Given the description of an element on the screen output the (x, y) to click on. 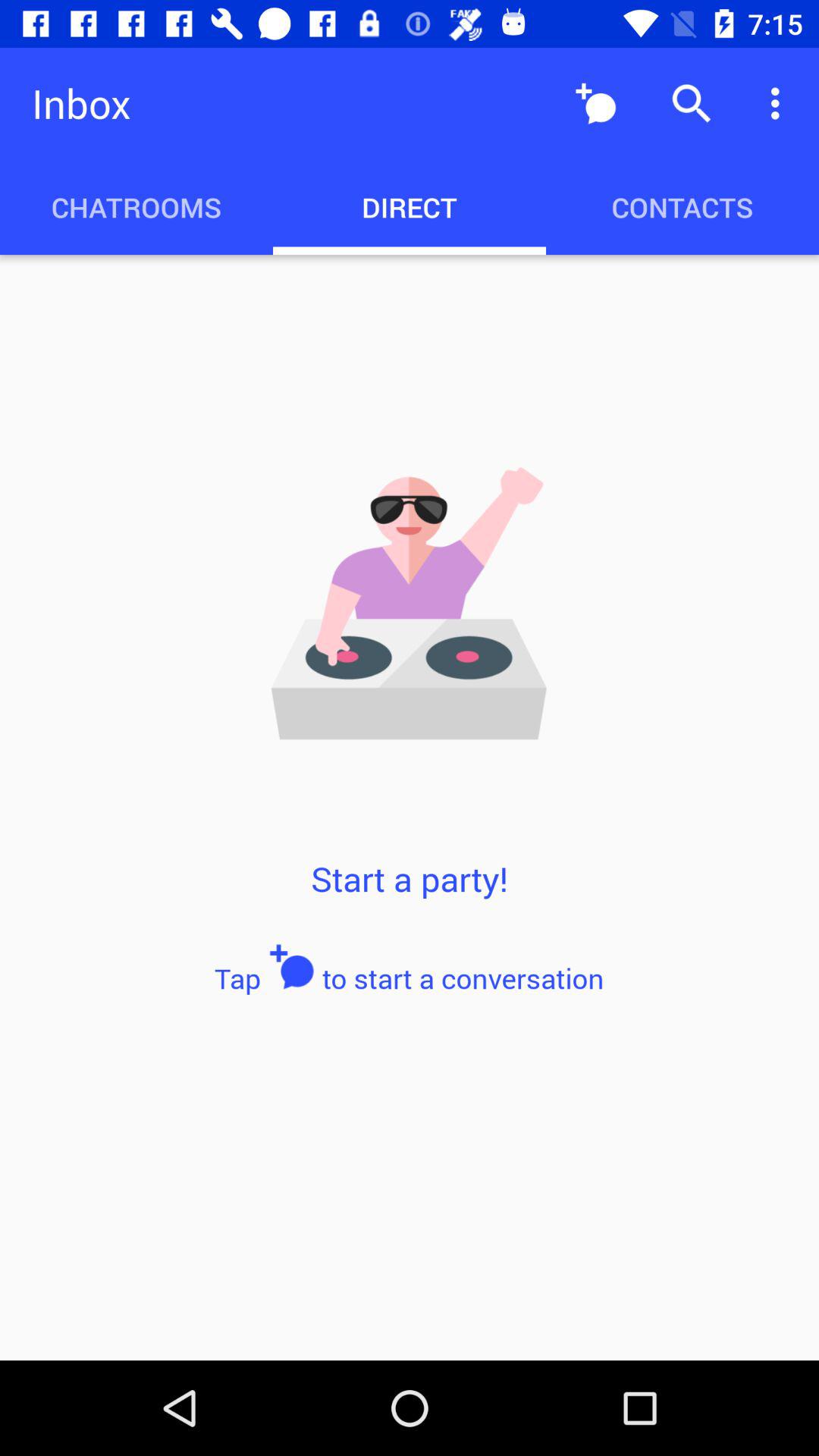
open the icon next to the inbox (595, 103)
